Given the description of an element on the screen output the (x, y) to click on. 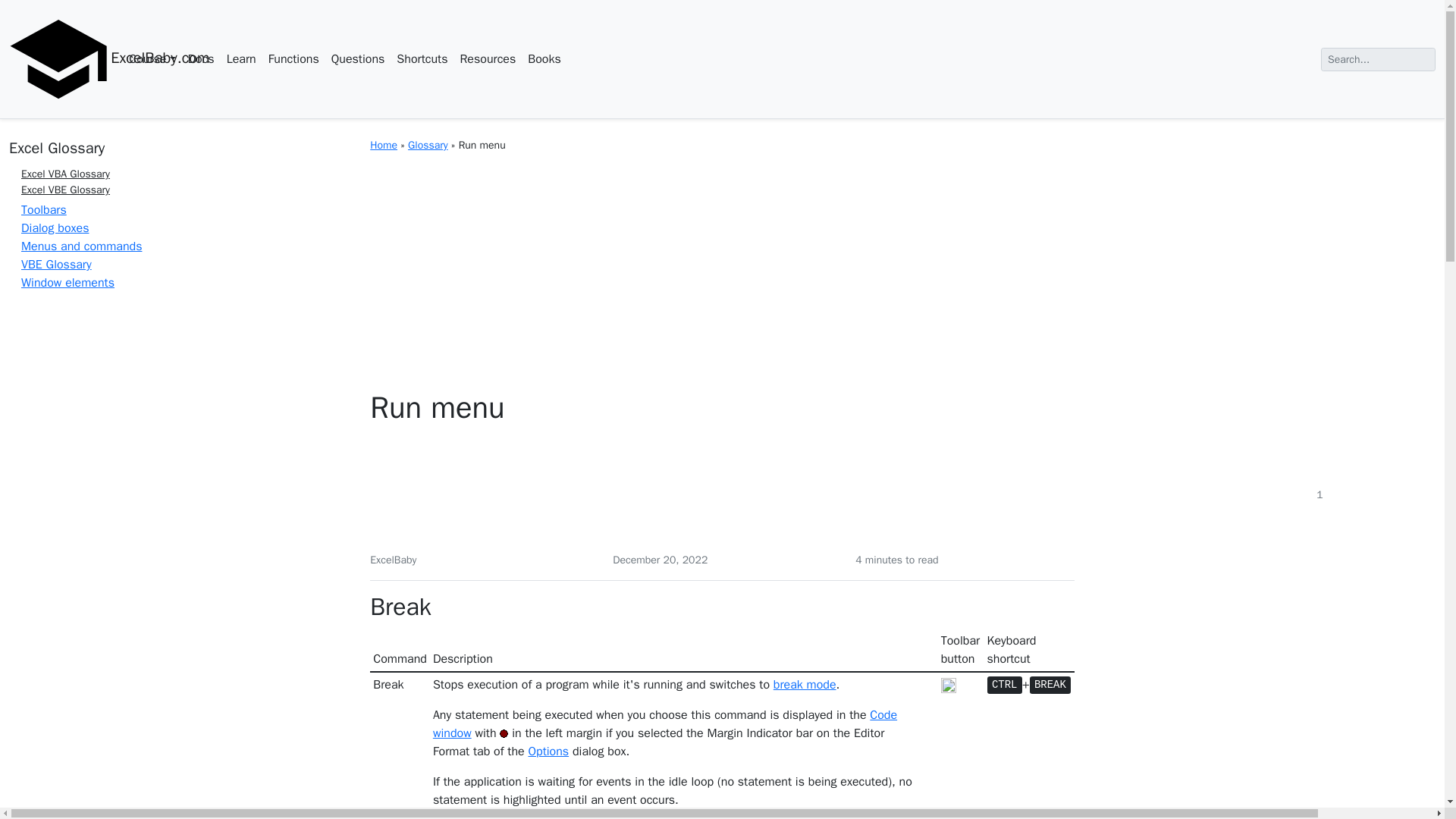
Toolbars (43, 209)
Functions (293, 59)
Books (543, 59)
Learn (241, 59)
Docs (201, 59)
Excel VBE Glossary (65, 189)
Questions (357, 59)
ExcelBaby.com (59, 58)
Dialog boxes (54, 227)
